Given the description of an element on the screen output the (x, y) to click on. 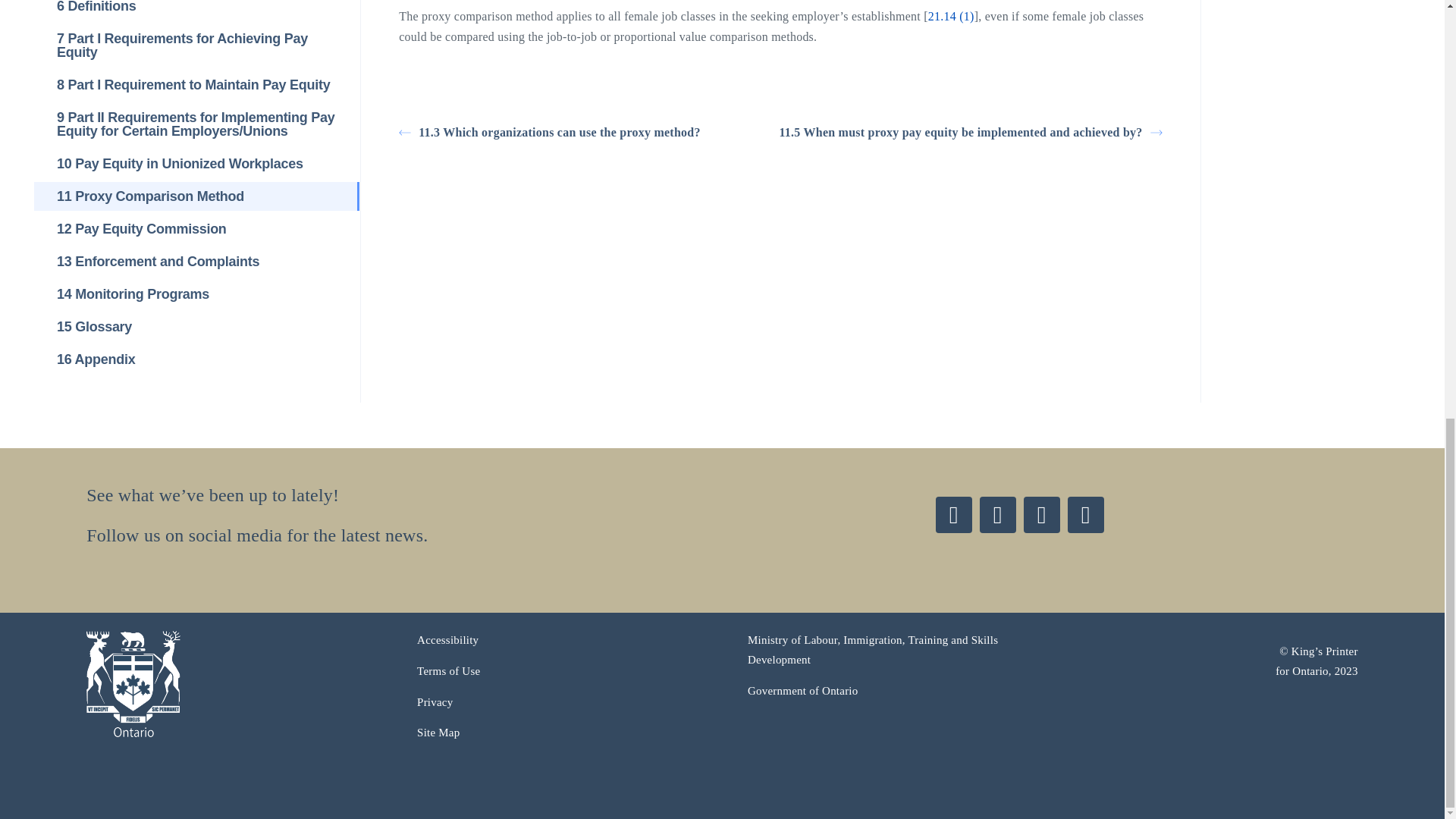
Email (1085, 514)
YouTube (1041, 514)
LinkedIn (997, 514)
Twitter (954, 514)
